Given the description of an element on the screen output the (x, y) to click on. 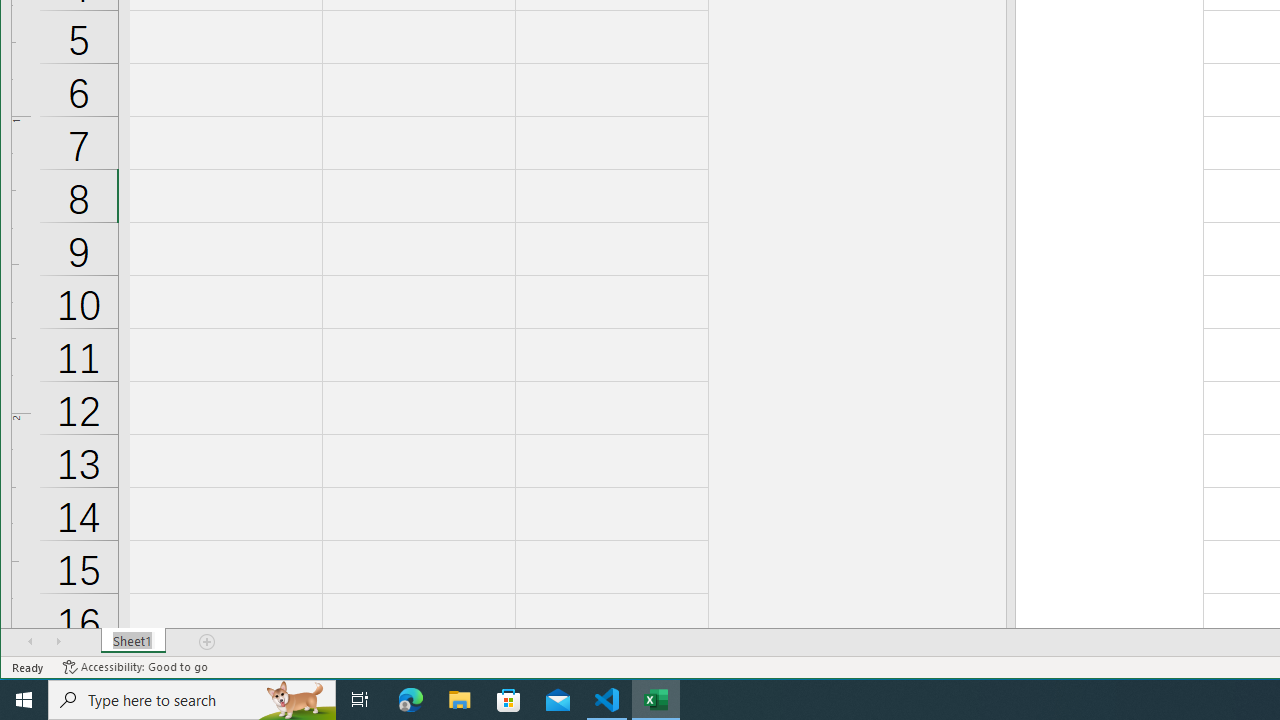
Type here to search (191, 699)
Microsoft Store (509, 699)
Excel - 1 running window (656, 699)
Visual Studio Code - 1 running window (607, 699)
Task View (359, 699)
Search highlights icon opens search home window (295, 699)
Sheet Tab (133, 641)
File Explorer (460, 699)
Start (24, 699)
Microsoft Edge (411, 699)
